Given the description of an element on the screen output the (x, y) to click on. 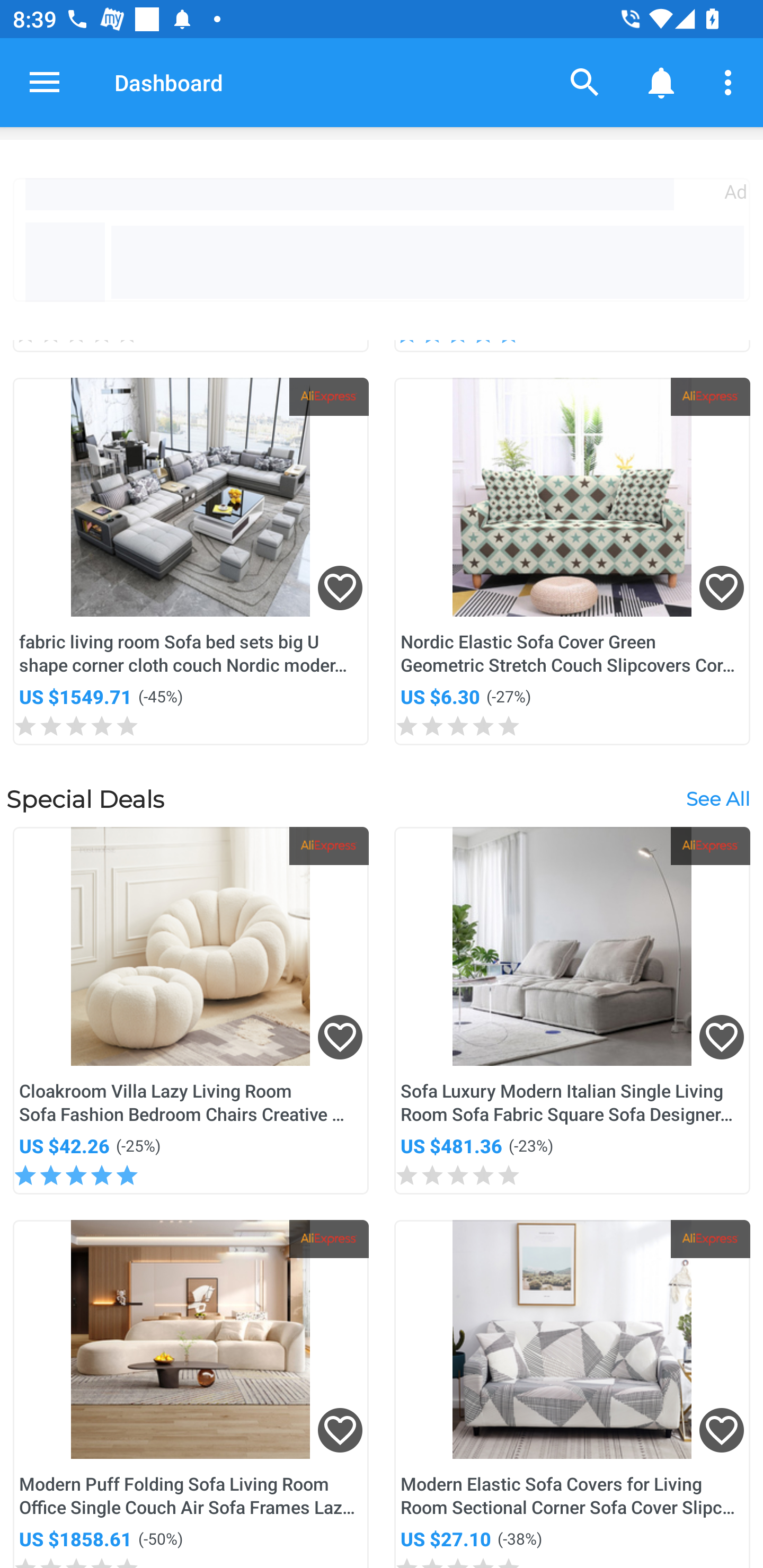
Open navigation drawer (44, 82)
Search (585, 81)
More options (731, 81)
See All (717, 797)
